Given the description of an element on the screen output the (x, y) to click on. 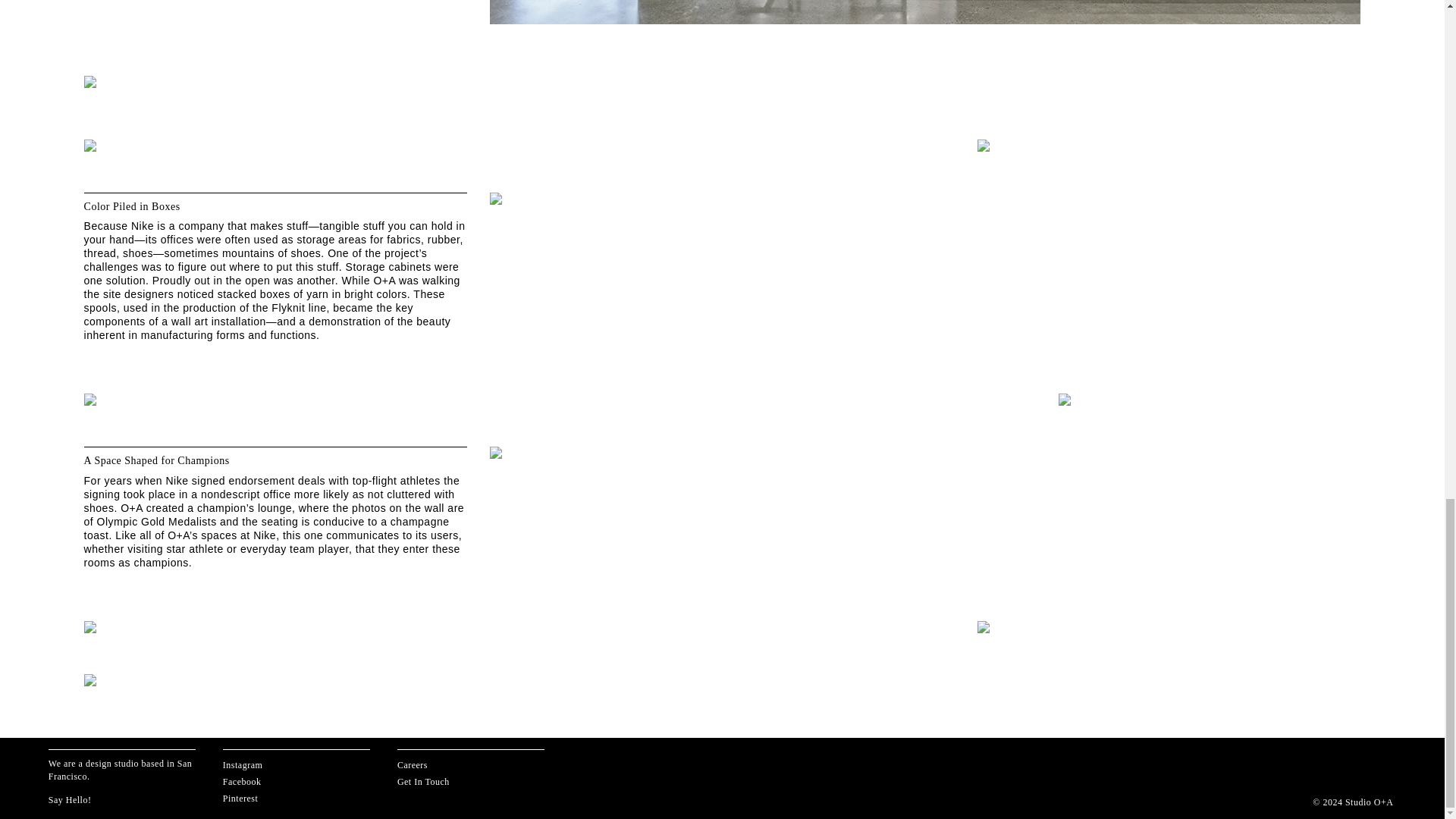
Say Hello! (69, 799)
Facebook (242, 781)
Get In Touch (423, 781)
Instagram (242, 765)
Careers (412, 765)
Pinterest (240, 798)
